Given the description of an element on the screen output the (x, y) to click on. 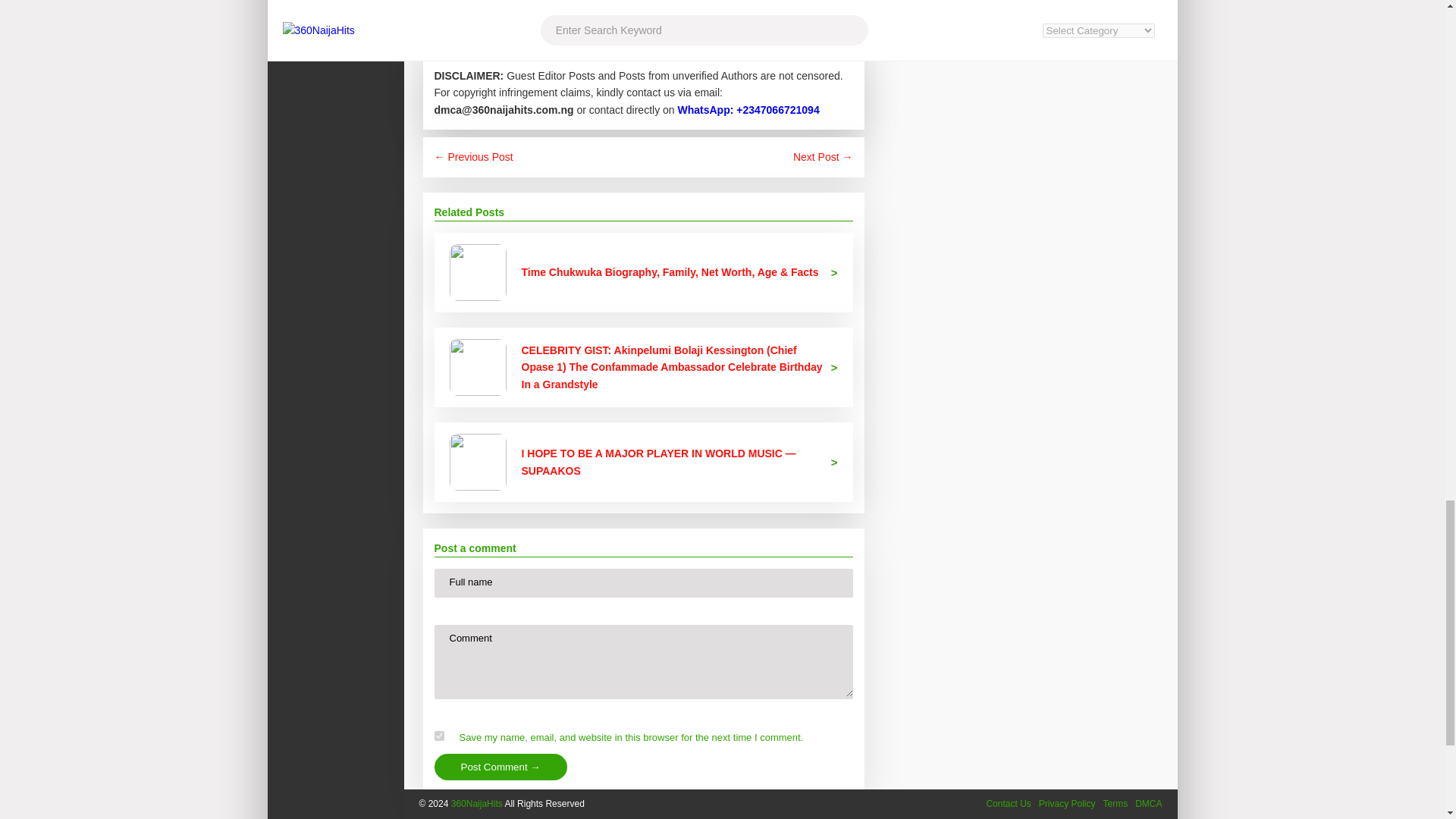
yes (438, 736)
